Given the description of an element on the screen output the (x, y) to click on. 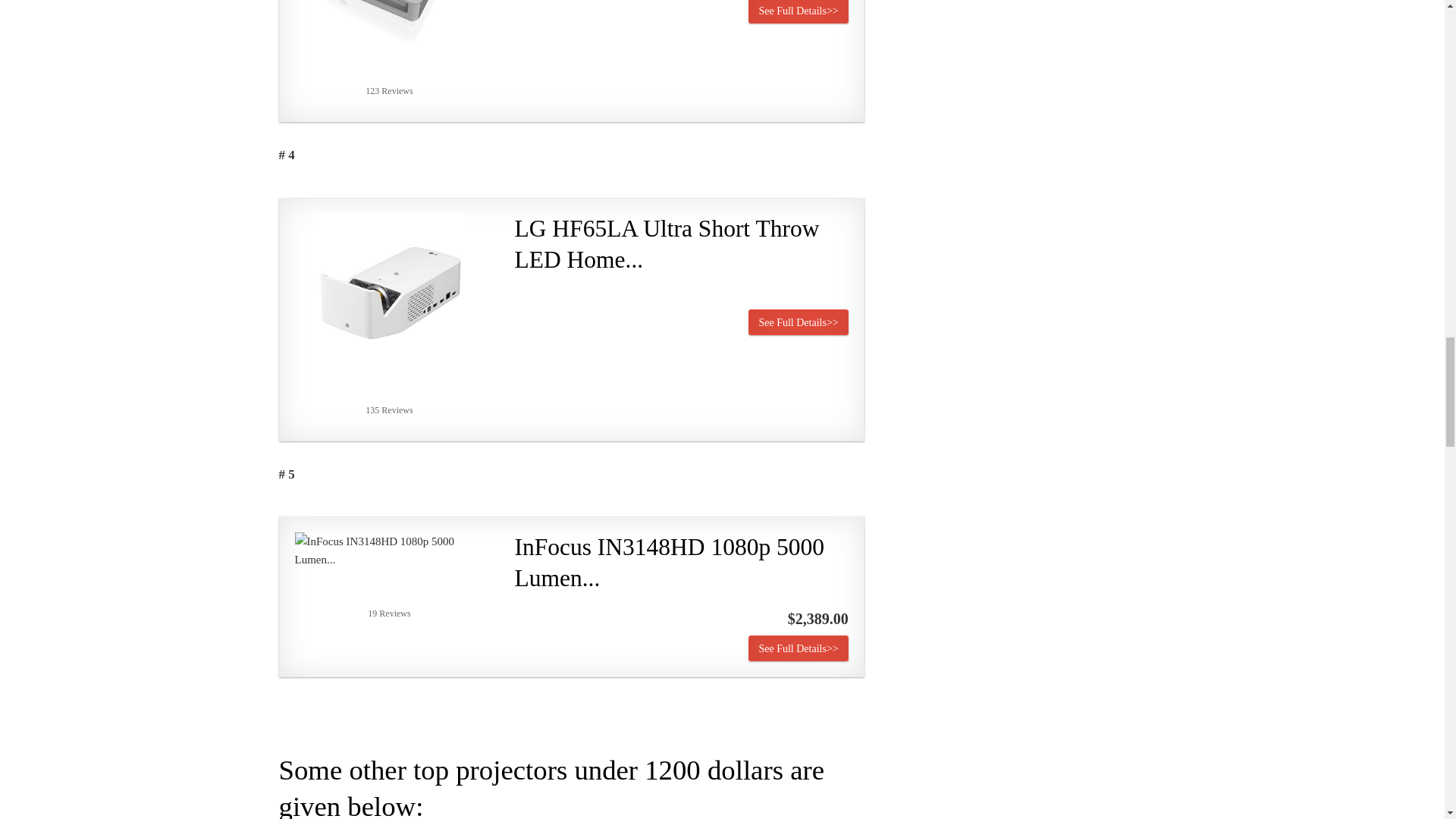
Amazon Prime (827, 297)
